Given the description of an element on the screen output the (x, y) to click on. 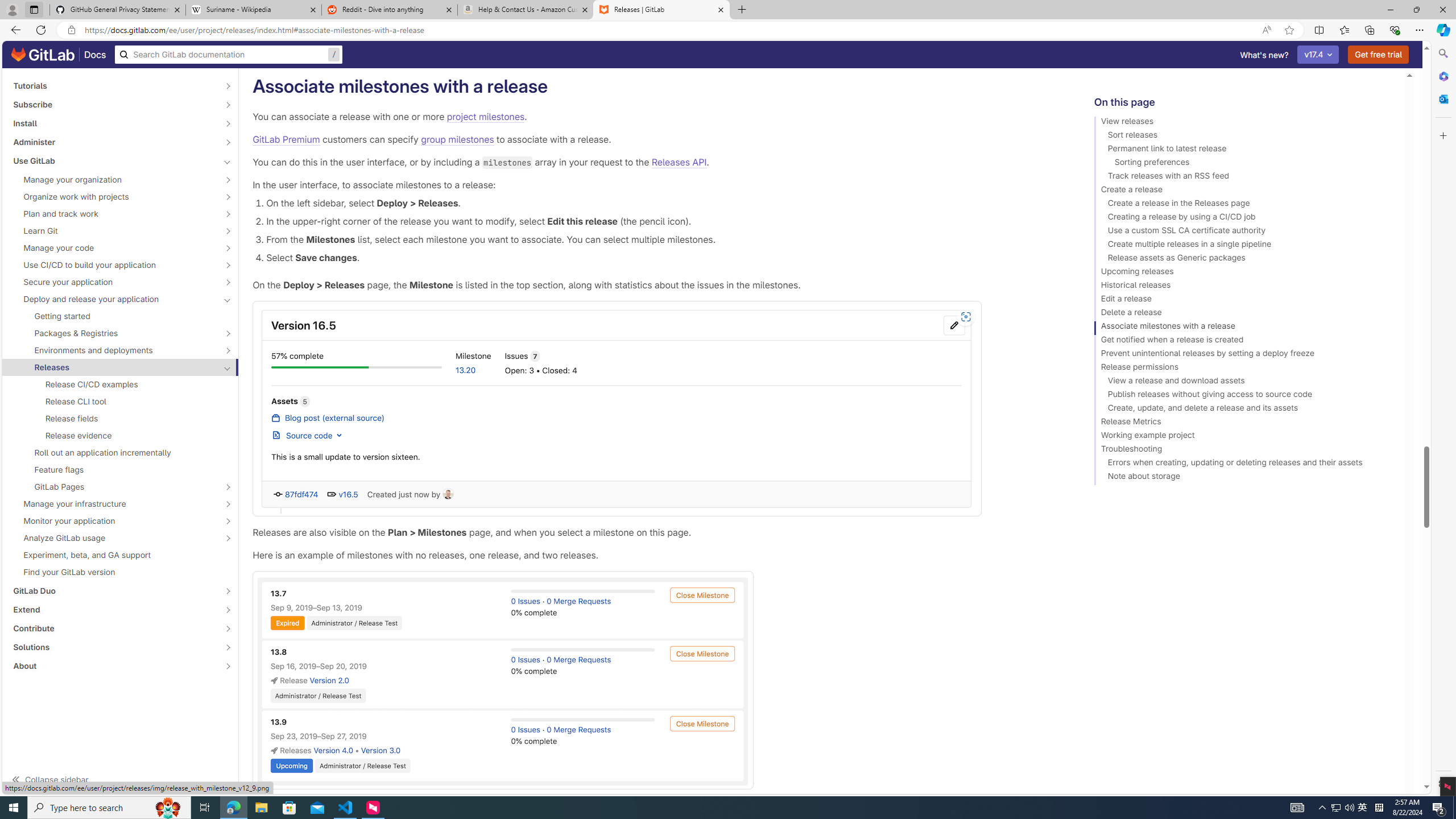
Experiment, beta, and GA support (120, 554)
Getting started (120, 316)
View a release and download assets (1244, 382)
Edit a release (1244, 300)
Permanent link to latest release (1244, 150)
Publish releases without giving access to source code (1244, 395)
Administer (113, 141)
Edit a release (1244, 300)
Sort releases (1244, 136)
View a release and download assets (1244, 382)
